Given the description of an element on the screen output the (x, y) to click on. 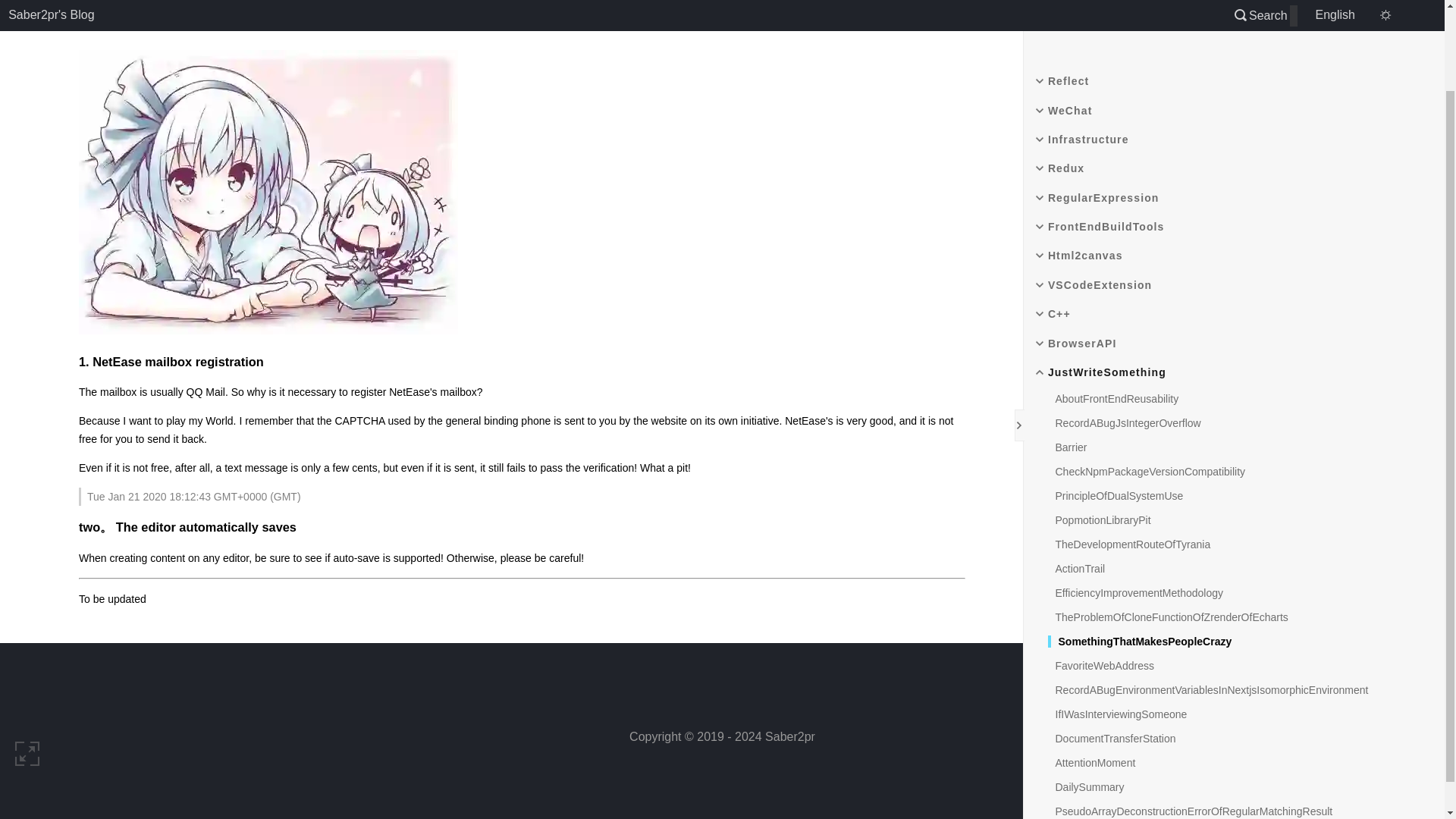
DocumentTransferStation (1112, 644)
AboutFrontEndReusability (1113, 304)
TheDevelopmentRouteOfTyrania (1129, 449)
PseudoArrayDeconstructionErrorOfRegularMatchingResult (1190, 716)
ActionTrail (1076, 473)
DailySummary (1086, 692)
TheProblemOfCloneFunctionOfZrenderOfEcharts (1168, 522)
RecordABugEnvironmentVariablesInNextjsIsomorphicEnvironment (1208, 594)
PopmotionLibraryPit (1099, 425)
EfficiencyImprovementMethodology (1136, 498)
CheckNpmPackageVersionCompatibility (1147, 377)
FavoriteWebAddress (1101, 571)
Barrier (1067, 352)
Enter full screen (26, 656)
IfIWasInterviewingSomeone (1118, 619)
